Given the description of an element on the screen output the (x, y) to click on. 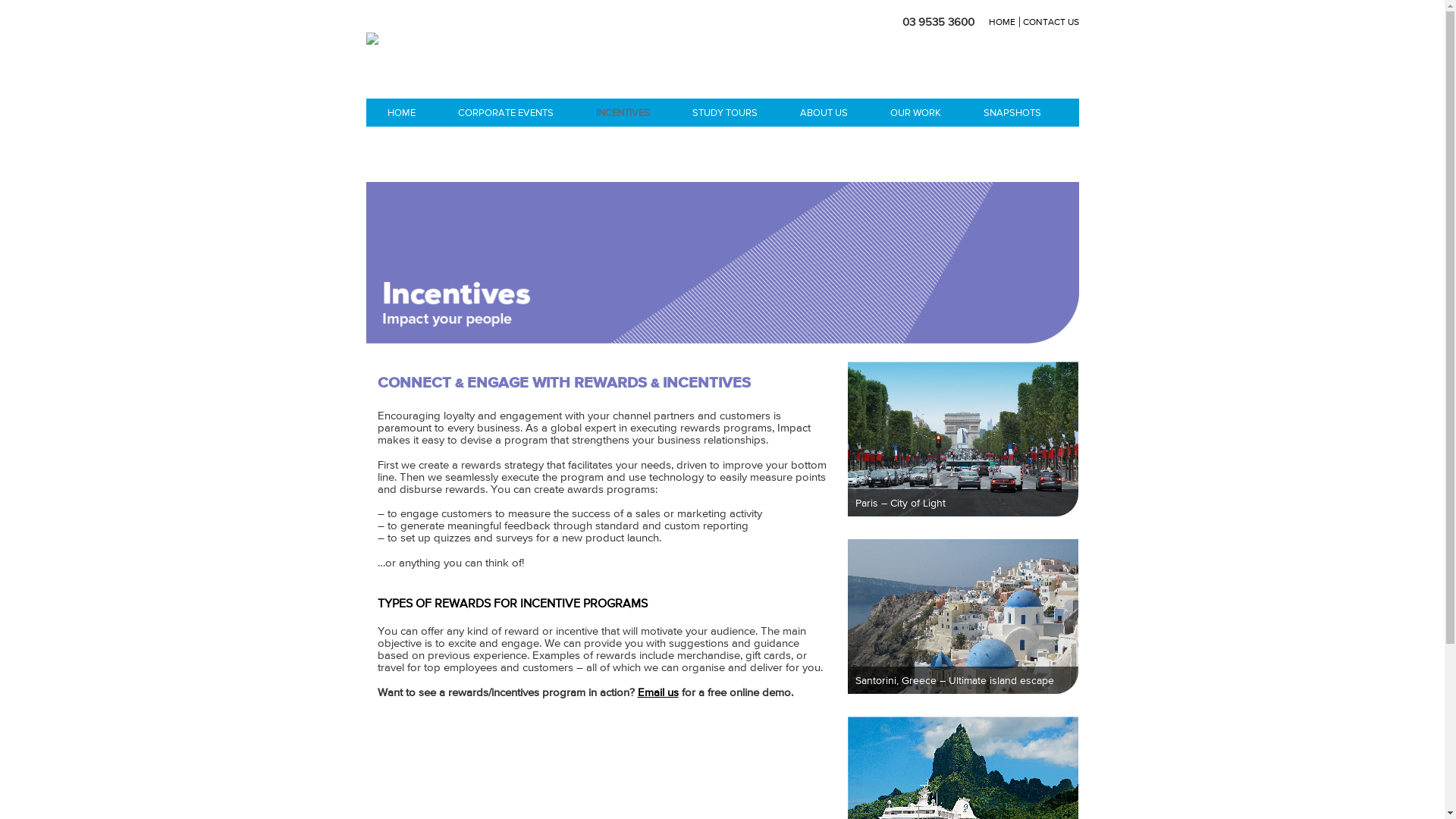
INCENTIVES Element type: text (622, 112)
HOME Element type: text (400, 112)
CORPORATE EVENTS Element type: text (505, 112)
ABOUT US Element type: text (823, 112)
CONTACT US Element type: text (1050, 21)
SNAPSHOTS Element type: text (1011, 112)
Skip to content Element type: text (365, 14)
Email us Element type: text (657, 691)
OUR WORK Element type: text (915, 112)
STUDY TOURS Element type: text (723, 112)
HOME Element type: text (1003, 21)
